Given the description of an element on the screen output the (x, y) to click on. 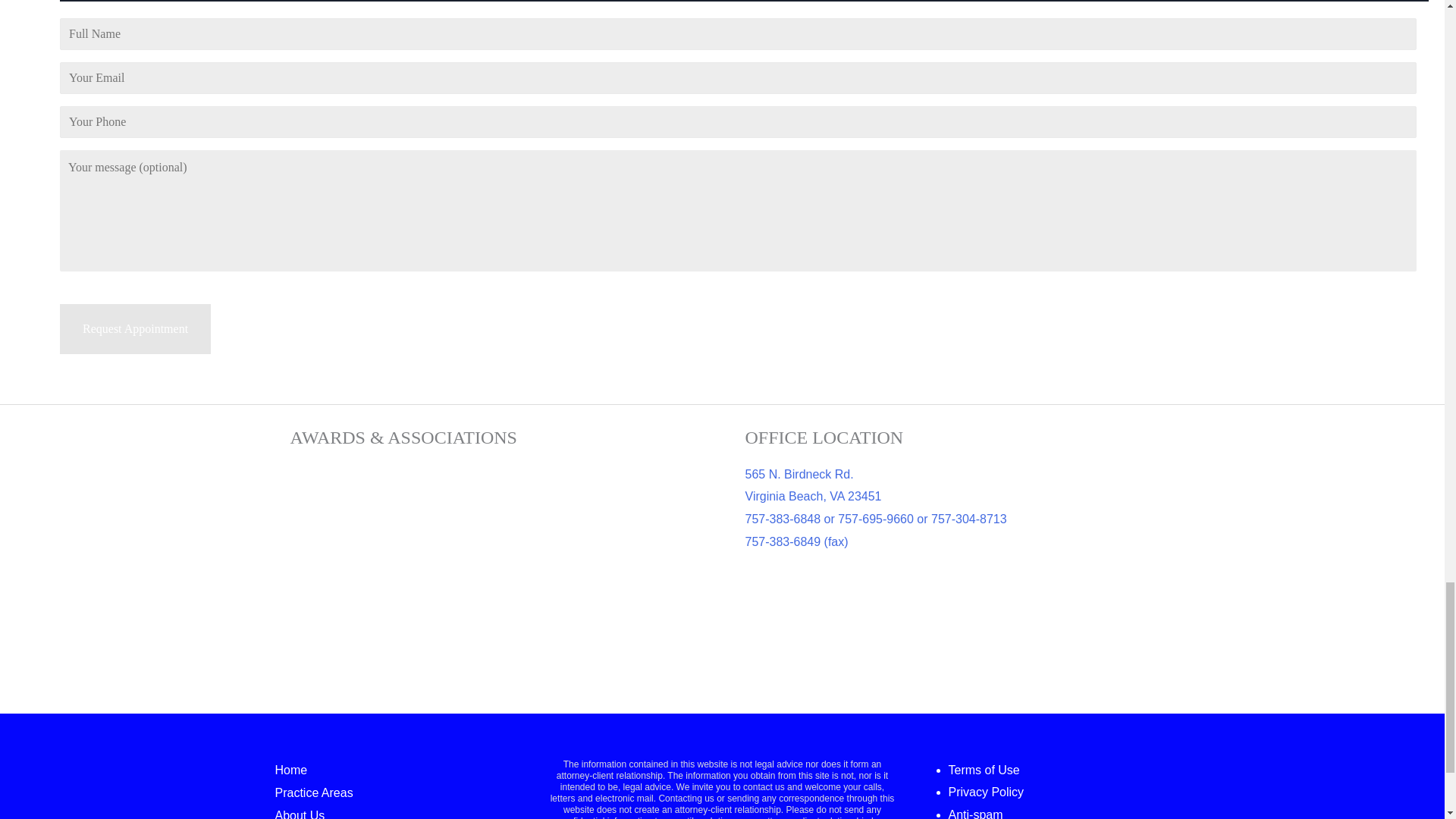
download (627, 634)
mybadge (357, 520)
Request Appointment (135, 328)
NAOPIA-Badge-2024 (492, 520)
